Given the description of an element on the screen output the (x, y) to click on. 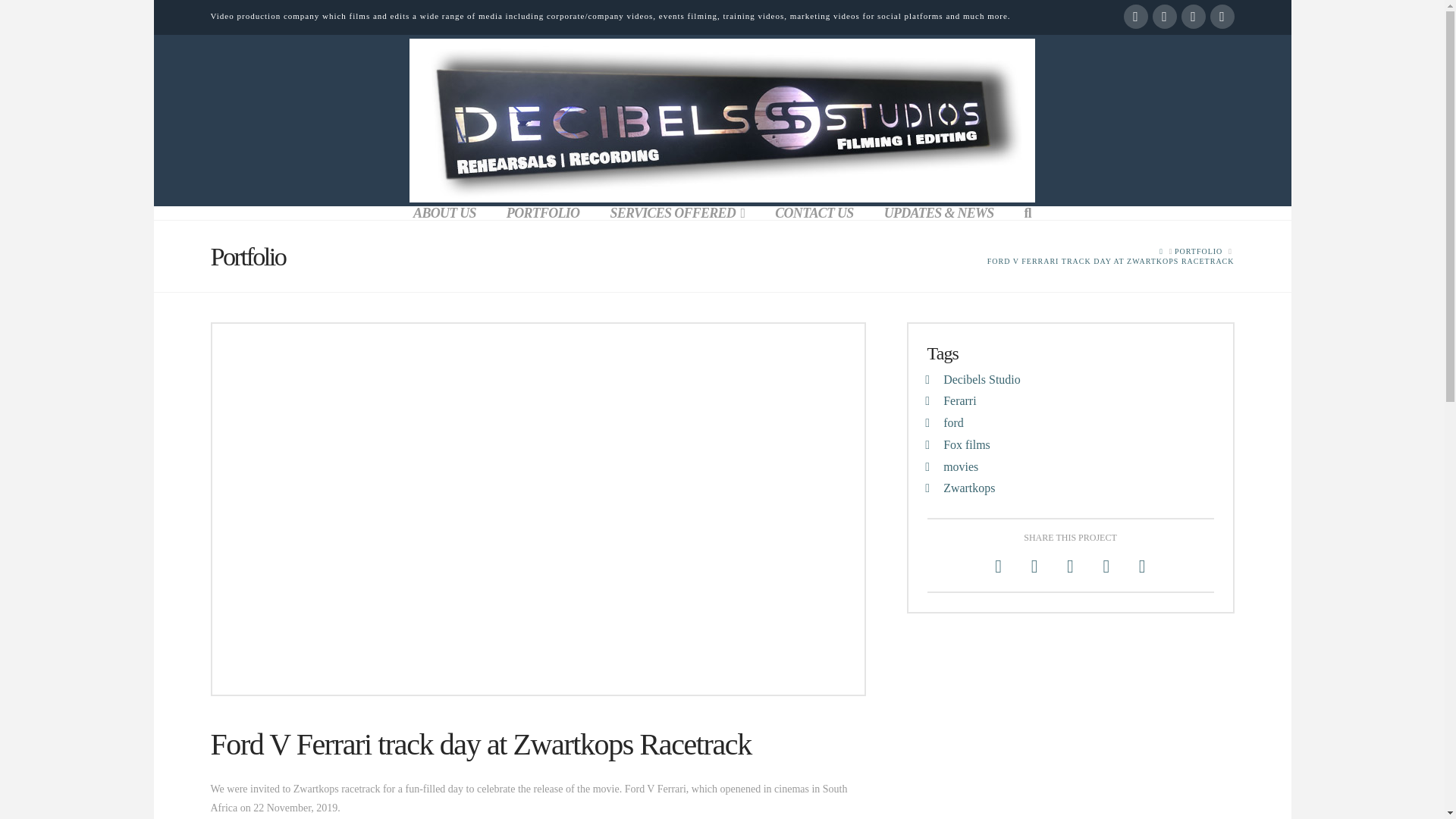
FORD V FERRARI TRACK DAY AT ZWARTKOPS RACETRACK (1110, 261)
Share via Email (1141, 566)
Instagram (1192, 16)
SERVICES OFFERED (677, 213)
ford (953, 422)
ABOUT US (444, 213)
Fox films (966, 444)
movies (960, 466)
CONTACT US (813, 213)
Decibels Studio (981, 379)
